Given the description of an element on the screen output the (x, y) to click on. 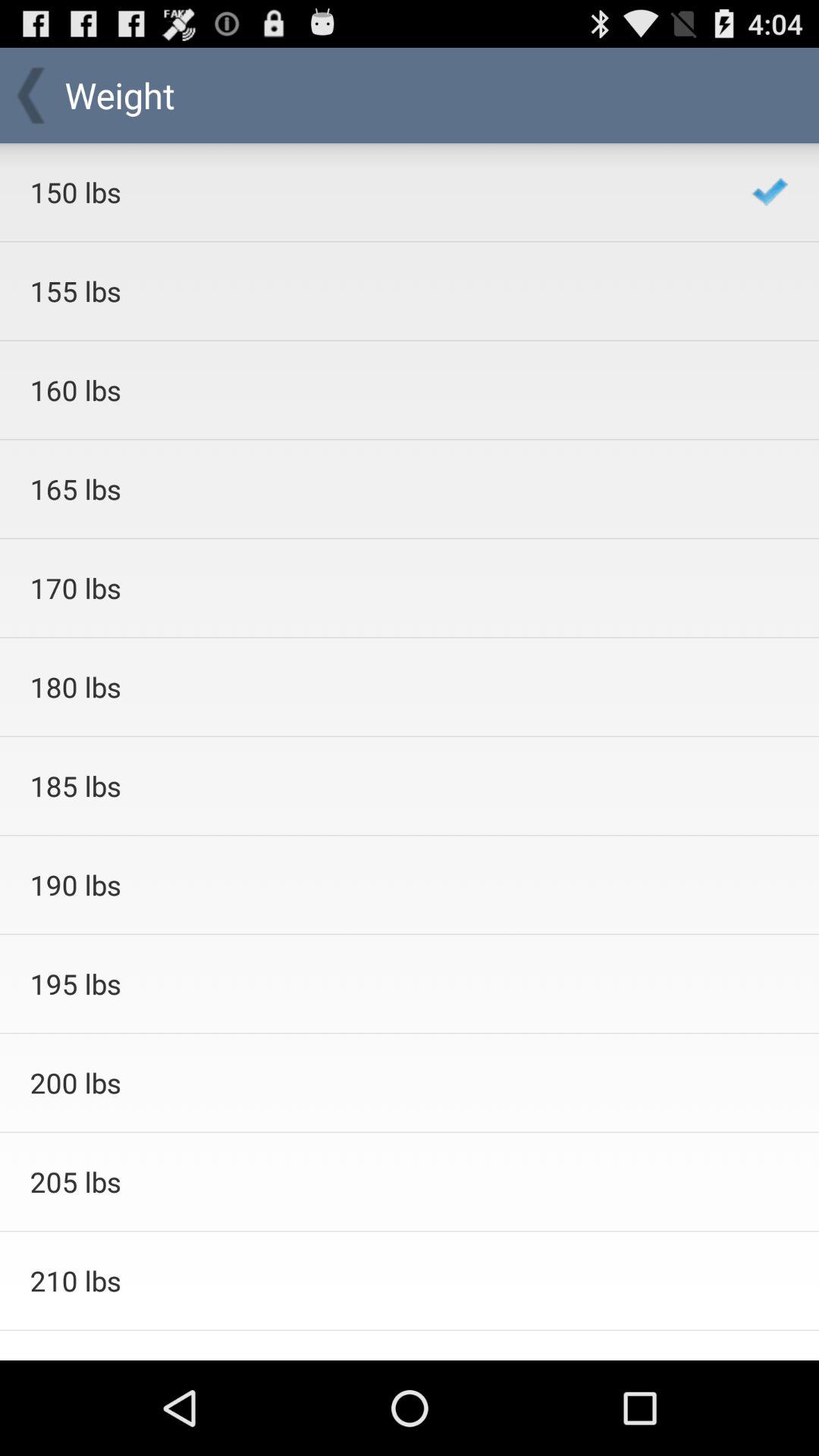
open item below 190 lbs (371, 983)
